Given the description of an element on the screen output the (x, y) to click on. 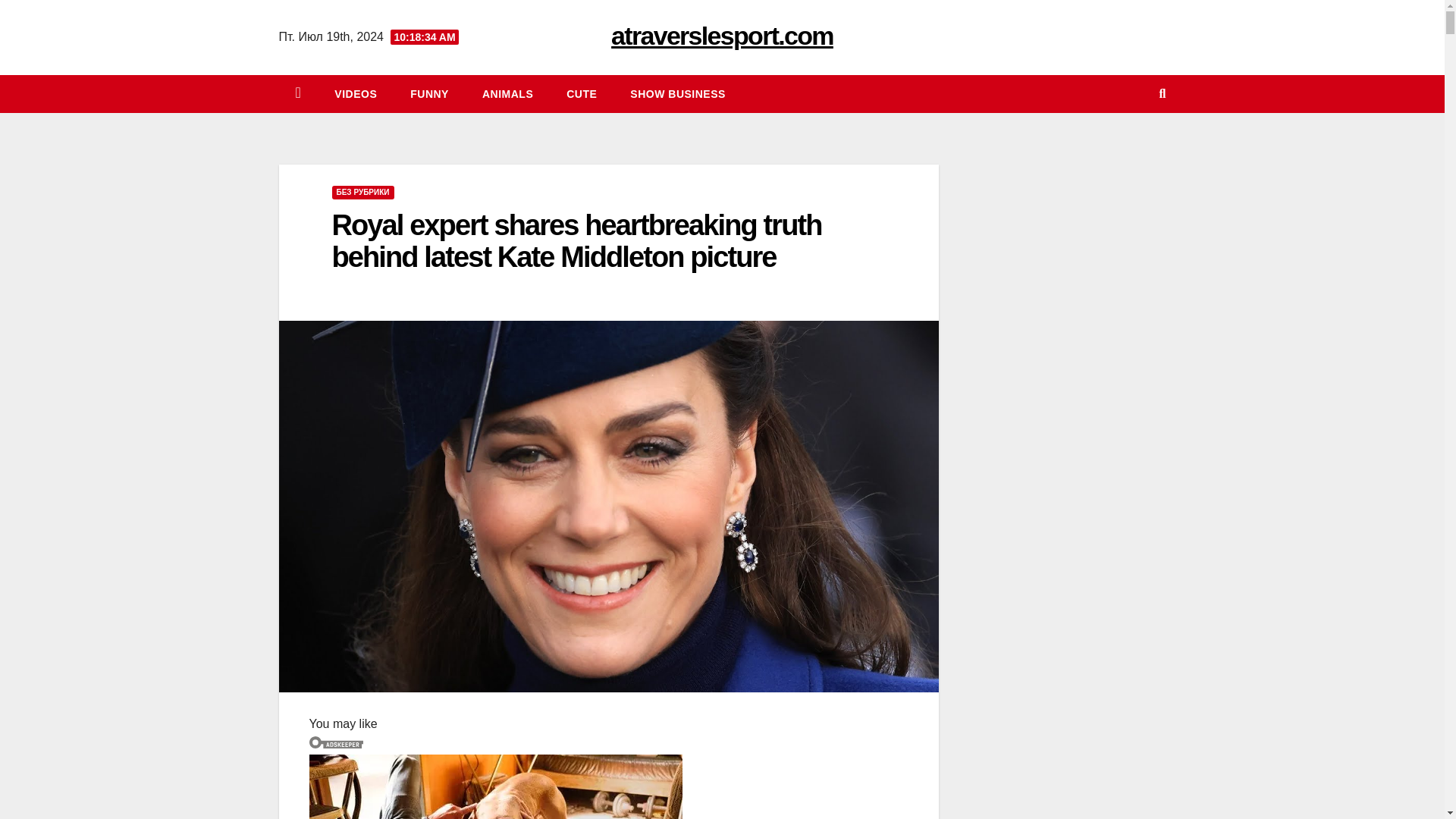
Cute (581, 94)
VIDEOS (355, 94)
Show Business (677, 94)
atraverslesport.com (721, 35)
ANIMALS (507, 94)
Funny (429, 94)
Videos (355, 94)
FUNNY (429, 94)
SHOW BUSINESS (677, 94)
Animals (507, 94)
CUTE (581, 94)
